Given the description of an element on the screen output the (x, y) to click on. 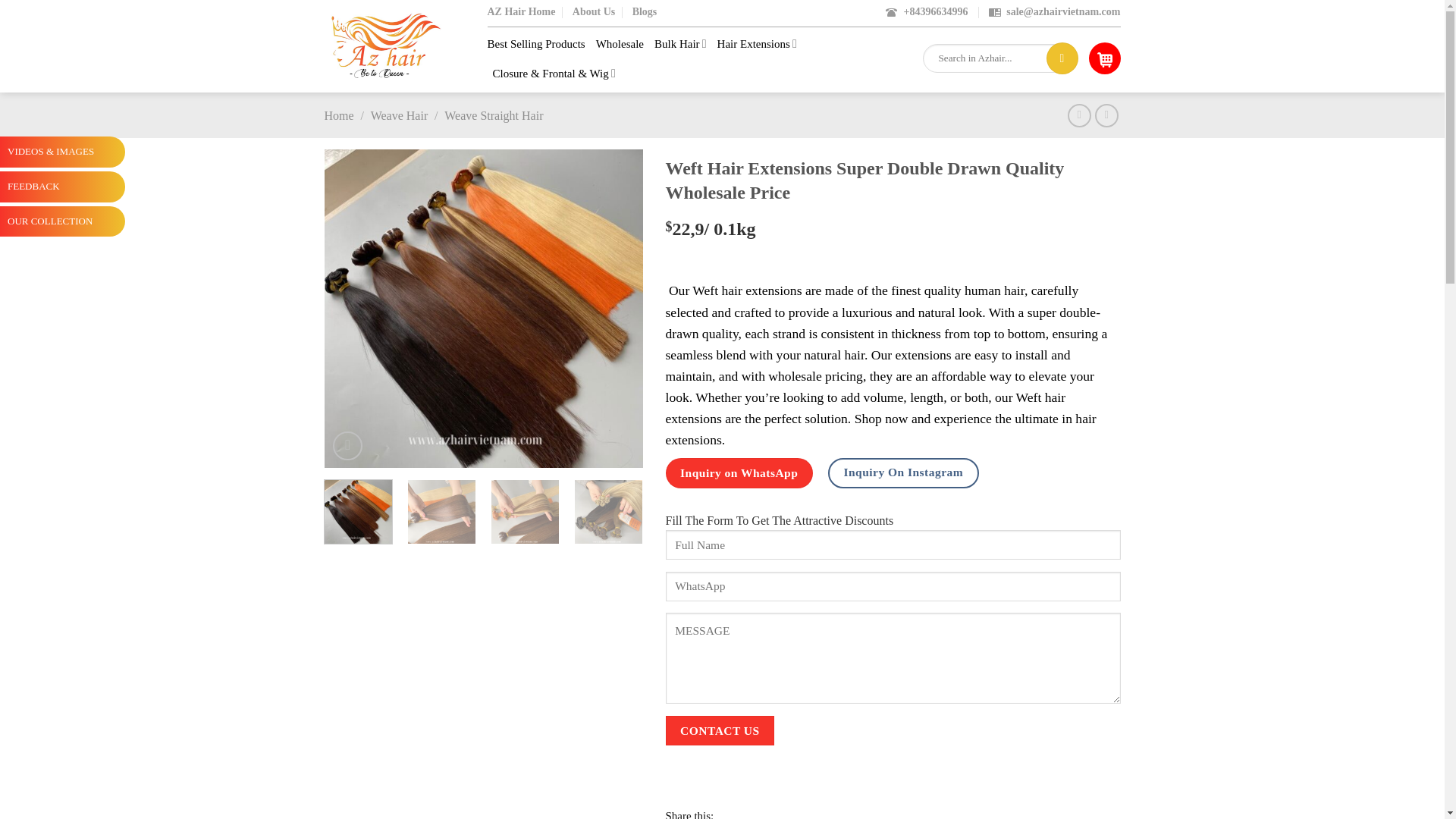
About Us (593, 12)
Home (338, 115)
Zoom (347, 446)
Best Selling Products (535, 43)
Hair Extensions (756, 43)
Blogs (644, 12)
Weave Hair (399, 115)
Contact US (719, 730)
Search (1062, 58)
Bulk Hair (679, 43)
Wholesale (619, 43)
AZ Hair Home (520, 12)
AZ Hair - Wholesale Vietnam Human Hair Extensions (400, 45)
